Given the description of an element on the screen output the (x, y) to click on. 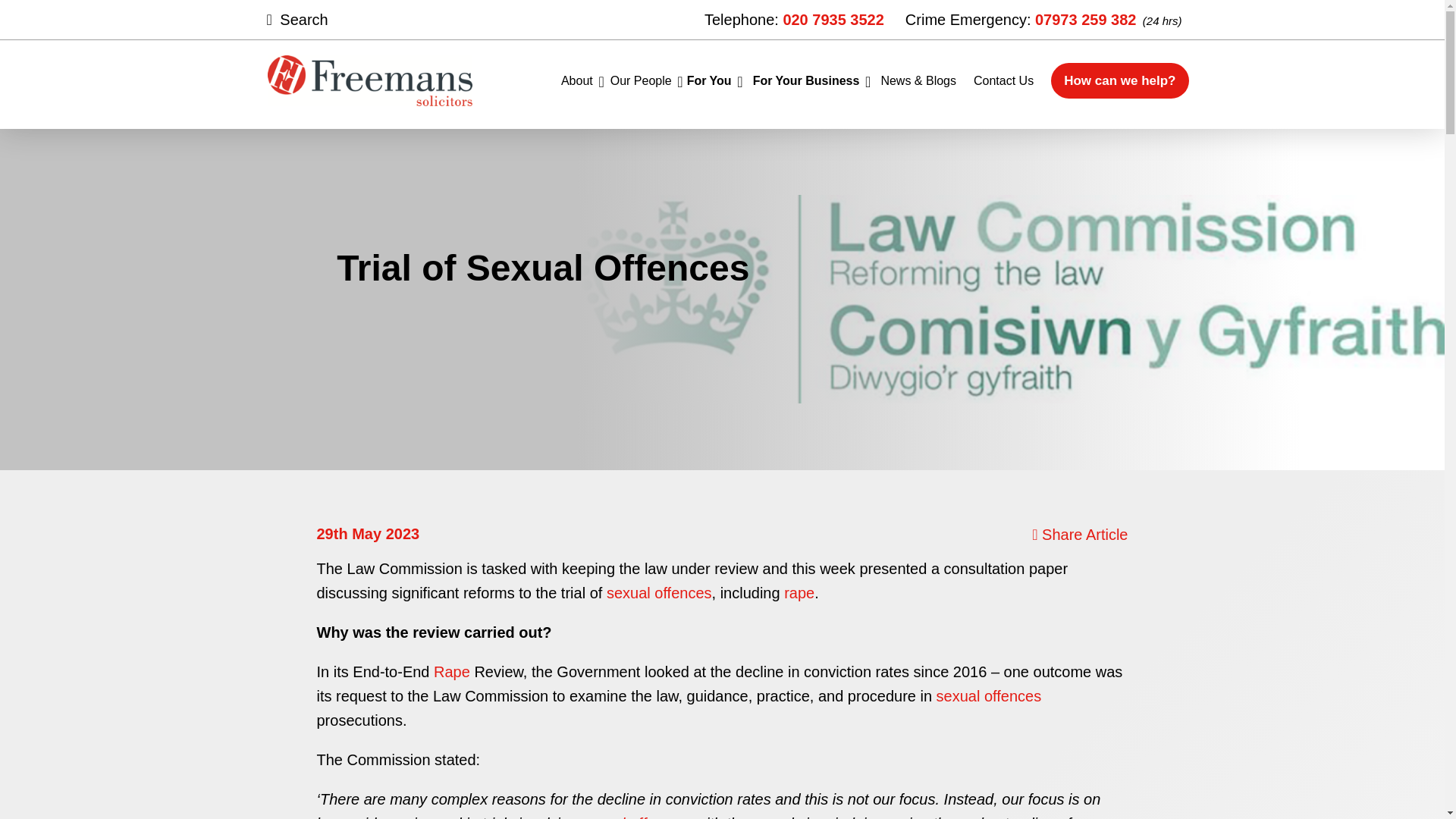
Telephone: 020 7935 3522 (793, 19)
Search (318, 19)
For Your Business (806, 80)
Our People (640, 80)
About (576, 80)
For You (709, 80)
